Given the description of an element on the screen output the (x, y) to click on. 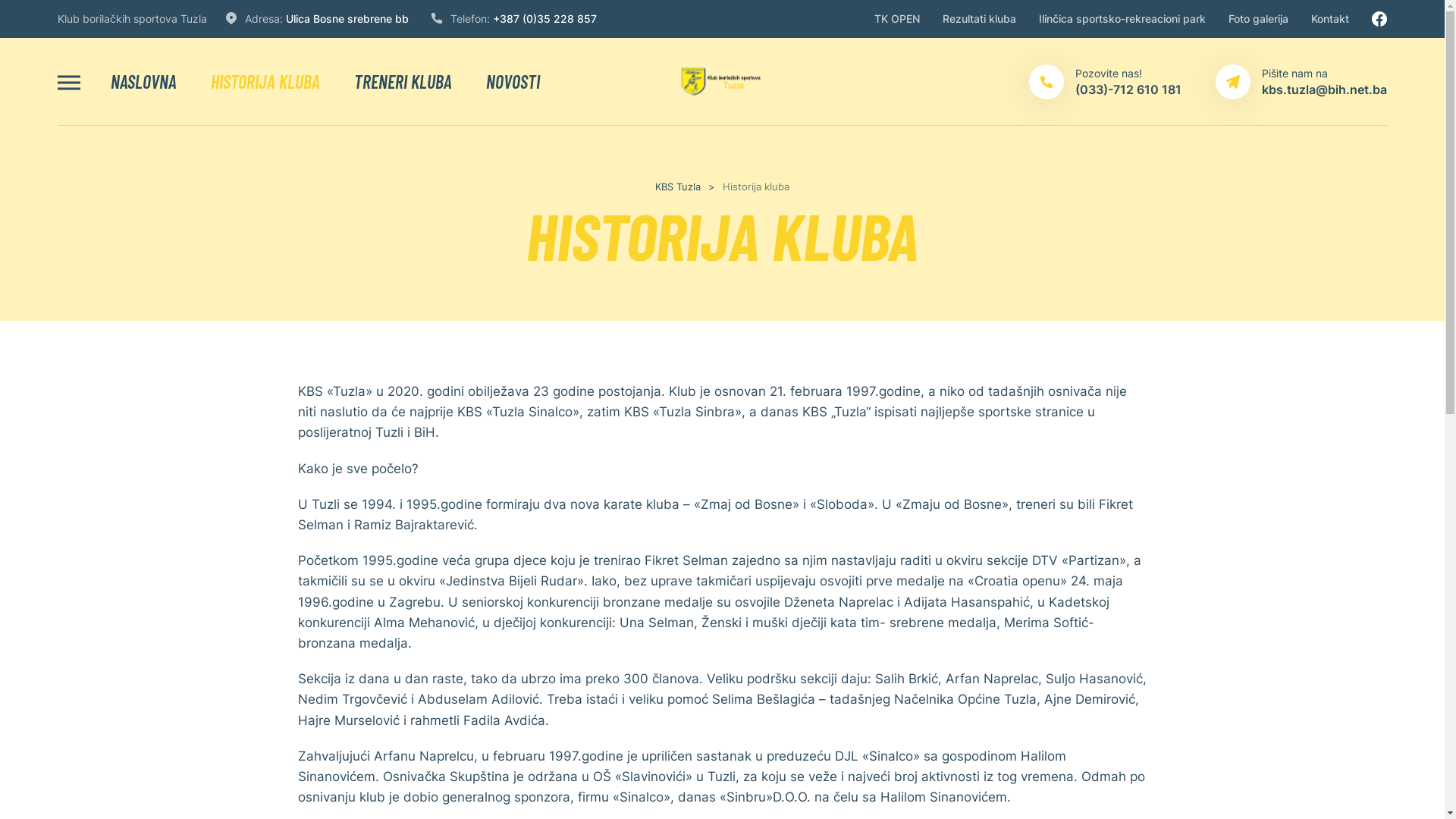
TK OPEN Element type: text (896, 18)
NASLOVNA Element type: text (143, 81)
KBS Tuzla Element type: text (677, 186)
TRENERI KLUBA Element type: text (402, 81)
Pozovite nas!
(033)-712 610 181 Element type: text (1105, 81)
Ulica Bosne srebrene bb Element type: text (346, 18)
HISTORIJA KLUBA Element type: text (265, 81)
Rezultati kluba Element type: text (979, 18)
+387 (0)35 228 857 Element type: text (544, 18)
NOVOSTI Element type: text (512, 81)
Kontakt Element type: text (1330, 18)
Foto galerija Element type: text (1258, 18)
